Given the description of an element on the screen output the (x, y) to click on. 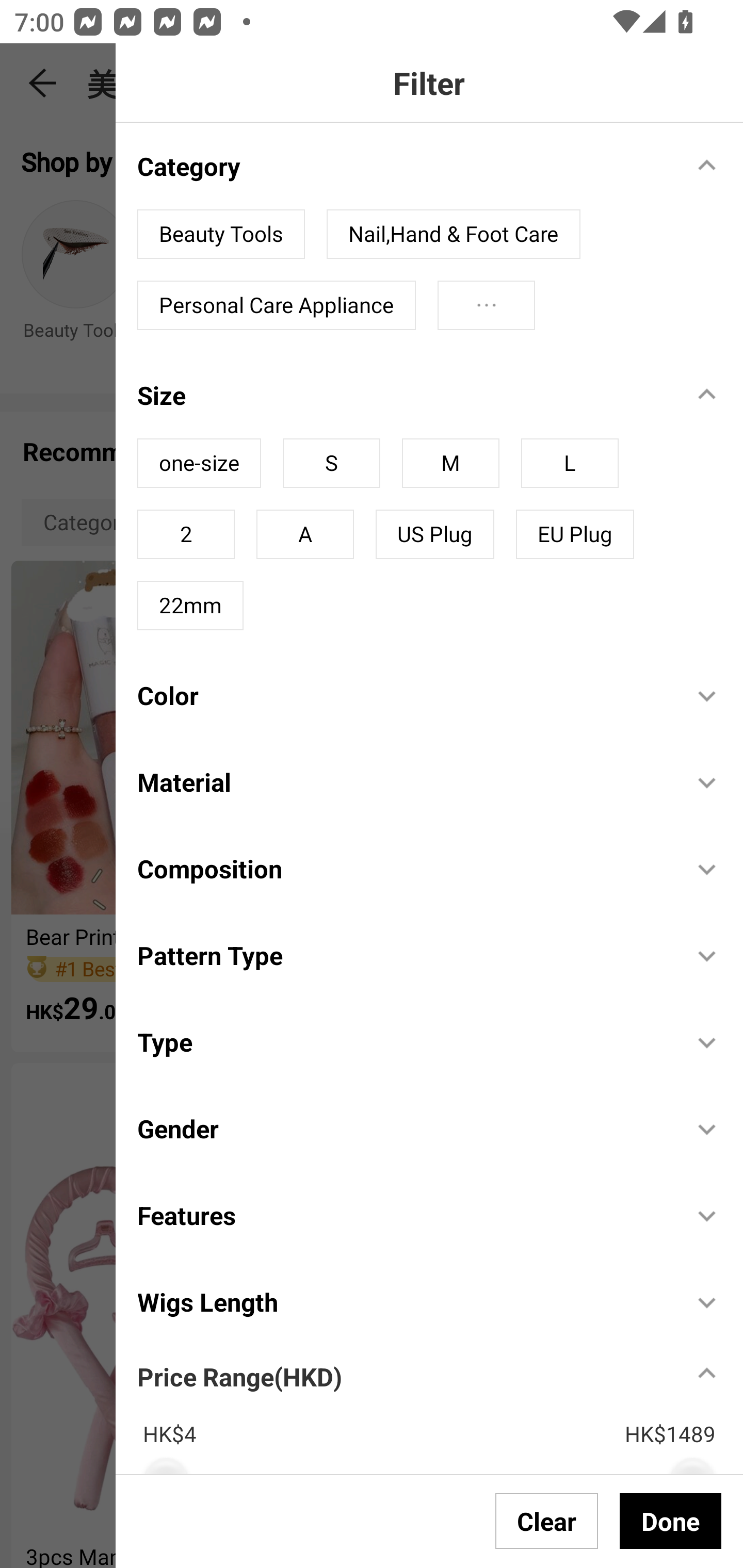
Category (403, 166)
Beauty Tools (220, 234)
Nail,Hand & Foot Care (453, 234)
Personal Care Appliance (276, 305)
Size (403, 395)
one-size (198, 463)
S (331, 463)
M (450, 463)
L (569, 463)
2 (185, 534)
A (304, 534)
US Plug (434, 534)
EU Plug (574, 534)
22mm (190, 605)
Color (403, 695)
Material (403, 781)
Composition (403, 868)
Pattern Type (403, 954)
Type (403, 1041)
Gender (403, 1128)
Features (403, 1215)
Wigs Length (403, 1301)
Price Range(HKD) (239, 1376)
SAVE (685, 1424)
Clear (546, 1520)
Done (670, 1520)
